Given the description of an element on the screen output the (x, y) to click on. 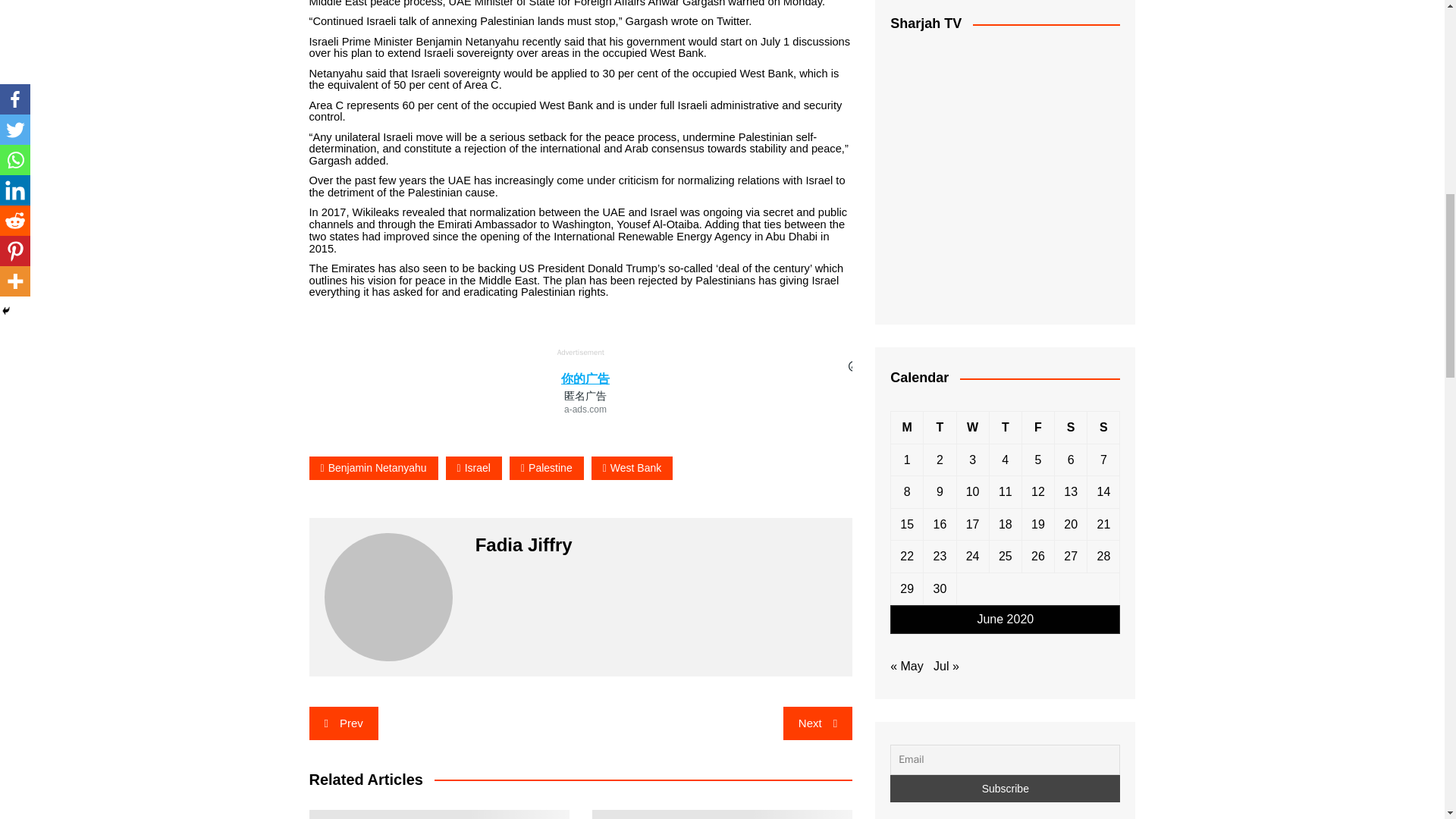
Next (817, 723)
Monday (907, 427)
Sunday (1103, 427)
Subscribe (1004, 788)
Prev (343, 723)
Palestine (546, 467)
Wednesday (972, 427)
West Bank (631, 467)
Thursday (1005, 427)
Israel (473, 467)
